Given the description of an element on the screen output the (x, y) to click on. 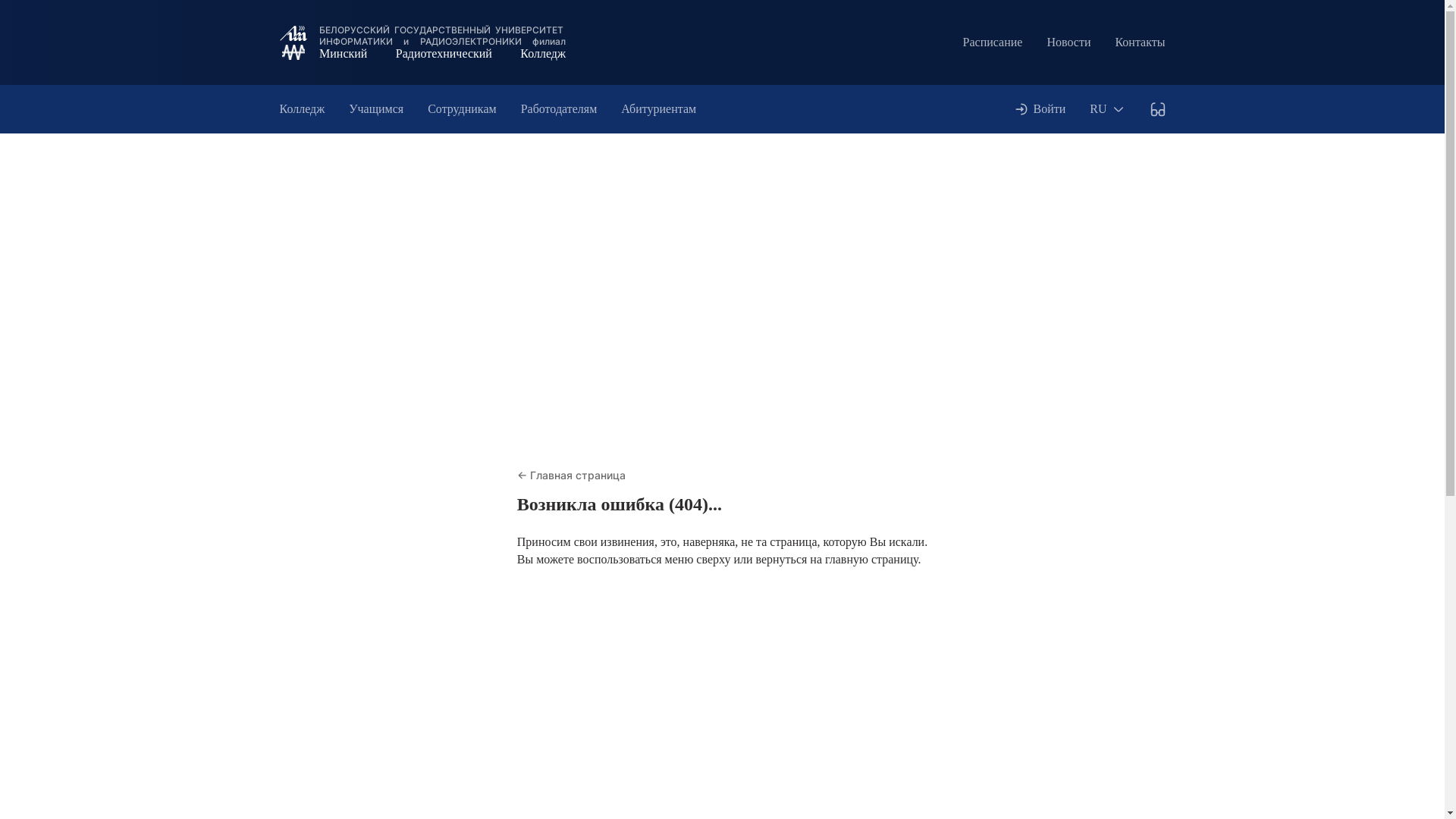
RU Element type: text (1107, 108)
